Given the description of an element on the screen output the (x, y) to click on. 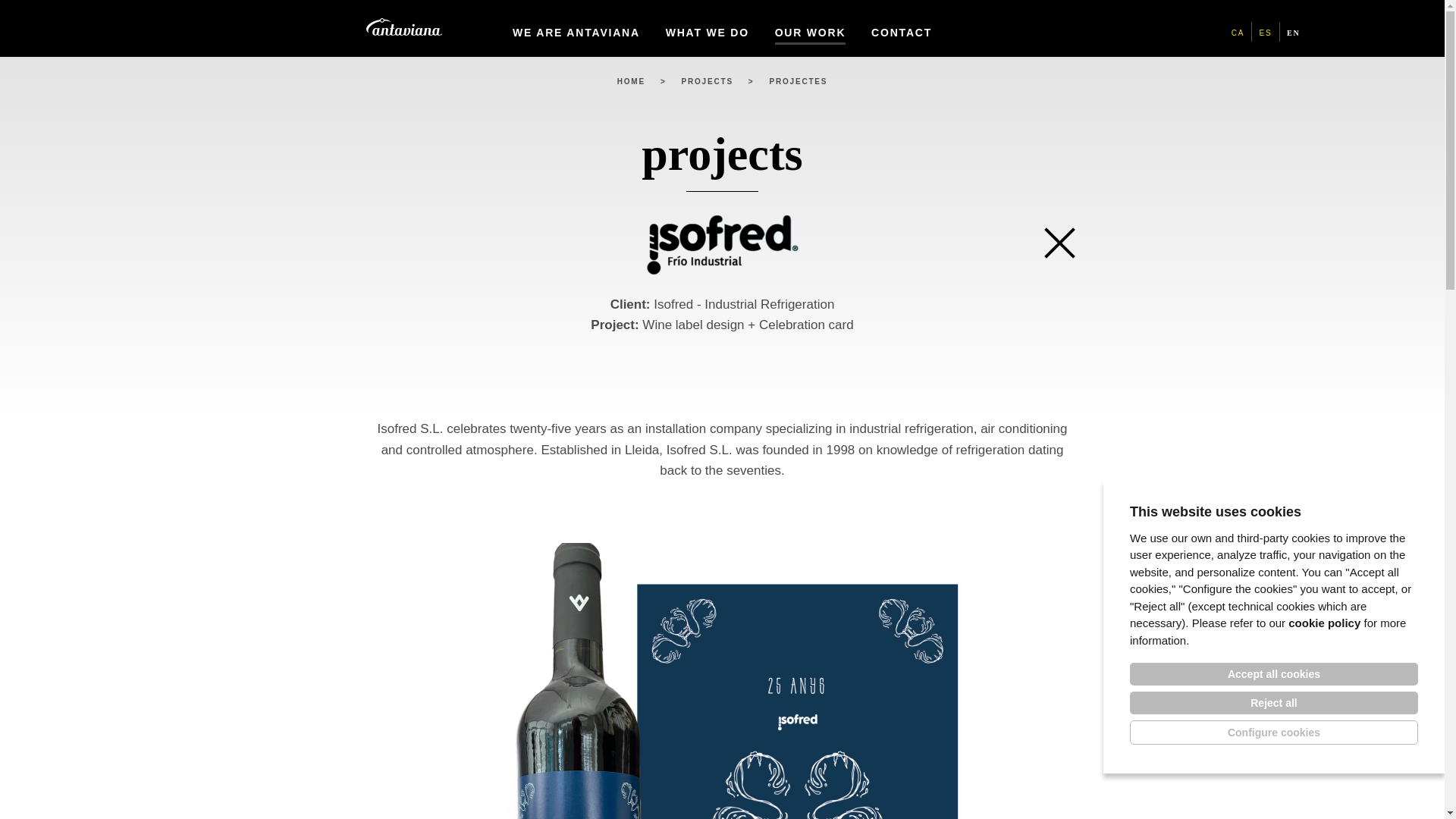
WE ARE ANTAVIANA (576, 28)
projects (707, 80)
ES (1265, 32)
Home (631, 80)
Configure cookies (1273, 732)
PROJECTS (707, 80)
WHAT WE DO (707, 28)
EN (1293, 32)
Accept all cookies (1273, 673)
CA (1237, 32)
OUR WORK (809, 28)
CONTACT (900, 28)
English version (1293, 32)
HOME (631, 80)
Antaviana (403, 27)
